Given the description of an element on the screen output the (x, y) to click on. 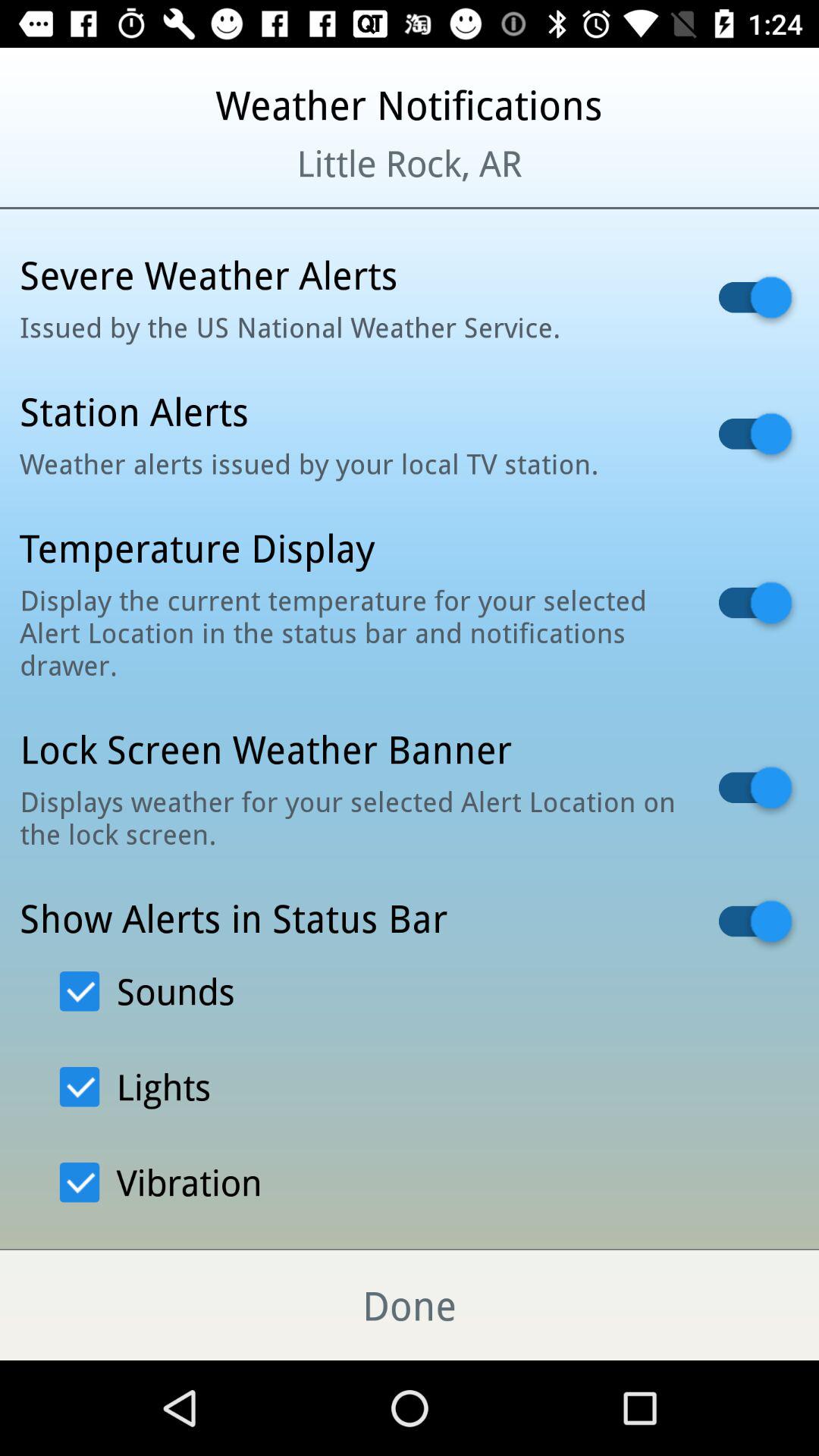
tap icon below lock screen weather icon (349, 817)
